Given the description of an element on the screen output the (x, y) to click on. 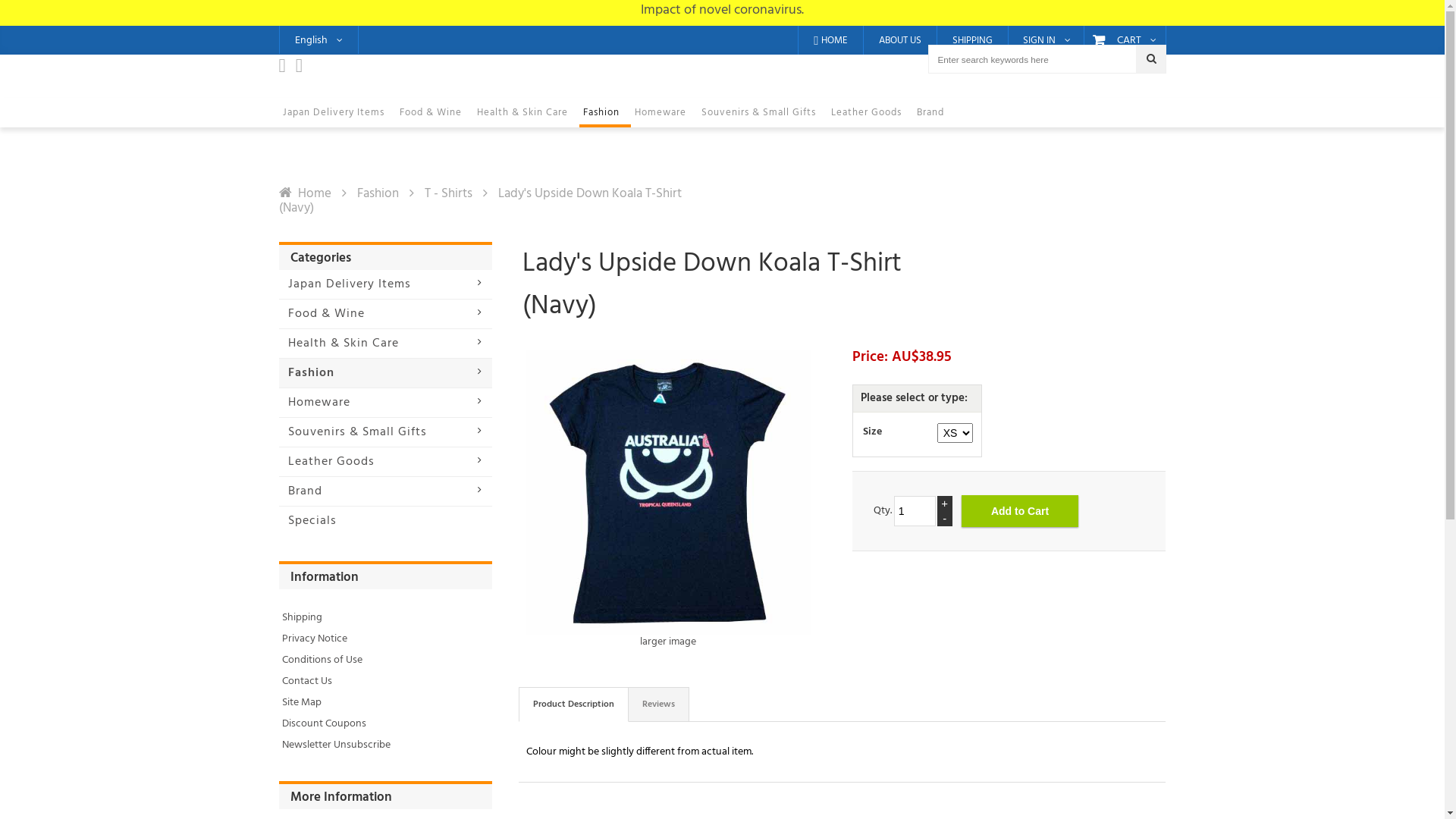
English Element type: text (318, 39)
OK Gift Shop Cairns Facebook Element type: hover (286, 69)
Japan Delivery Items Element type: text (385, 283)
Fashion Element type: text (385, 372)
Home Element type: text (305, 193)
Discount Coupons Element type: text (324, 723)
Shipping Element type: text (302, 617)
Brand Element type: text (385, 490)
Souvenirs & Small Gifts Element type: text (385, 431)
 Lady's Upside Down Koala T-Shirt (Navy)  Element type: hover (668, 492)
Product Description Element type: text (573, 704)
Health & Skin Care Element type: text (385, 343)
Leather Goods Element type: text (385, 461)
Add to Cart Element type: text (1020, 510)
Fashion Element type: text (377, 193)
larger image Element type: text (668, 566)
Site Map Element type: text (301, 702)
Japan Delivery Items Element type: text (337, 112)
ABOUT US Element type: text (898, 39)
SHIPPING Element type: text (972, 39)
Homeware Element type: text (385, 402)
Souvenirs & Small Gifts Element type: text (762, 112)
Contact Us Element type: text (307, 681)
T - Shirts Element type: text (448, 193)
Newsletter Unsubscribe Element type: text (336, 744)
Food & Wine Element type: text (434, 112)
Food & Wine Element type: text (385, 313)
Brand Element type: text (934, 112)
Conditions of Use Element type: text (322, 659)
Fashion Element type: text (604, 112)
Specials Element type: text (385, 520)
HOME Element type: text (830, 39)
Leather Goods Element type: text (869, 112)
Search Element type: hover (1150, 58)
Homeware Element type: text (663, 112)
Reviews Element type: text (658, 704)
 OK Gift Shop Australia Souvenir  Element type: hover (721, 90)
Health & Skin Care Element type: text (526, 112)
OK Gift Shop Cairns instagram Element type: hover (302, 69)
SIGN IN Element type: text (1046, 40)
Privacy Notice Element type: text (314, 638)
